Given the description of an element on the screen output the (x, y) to click on. 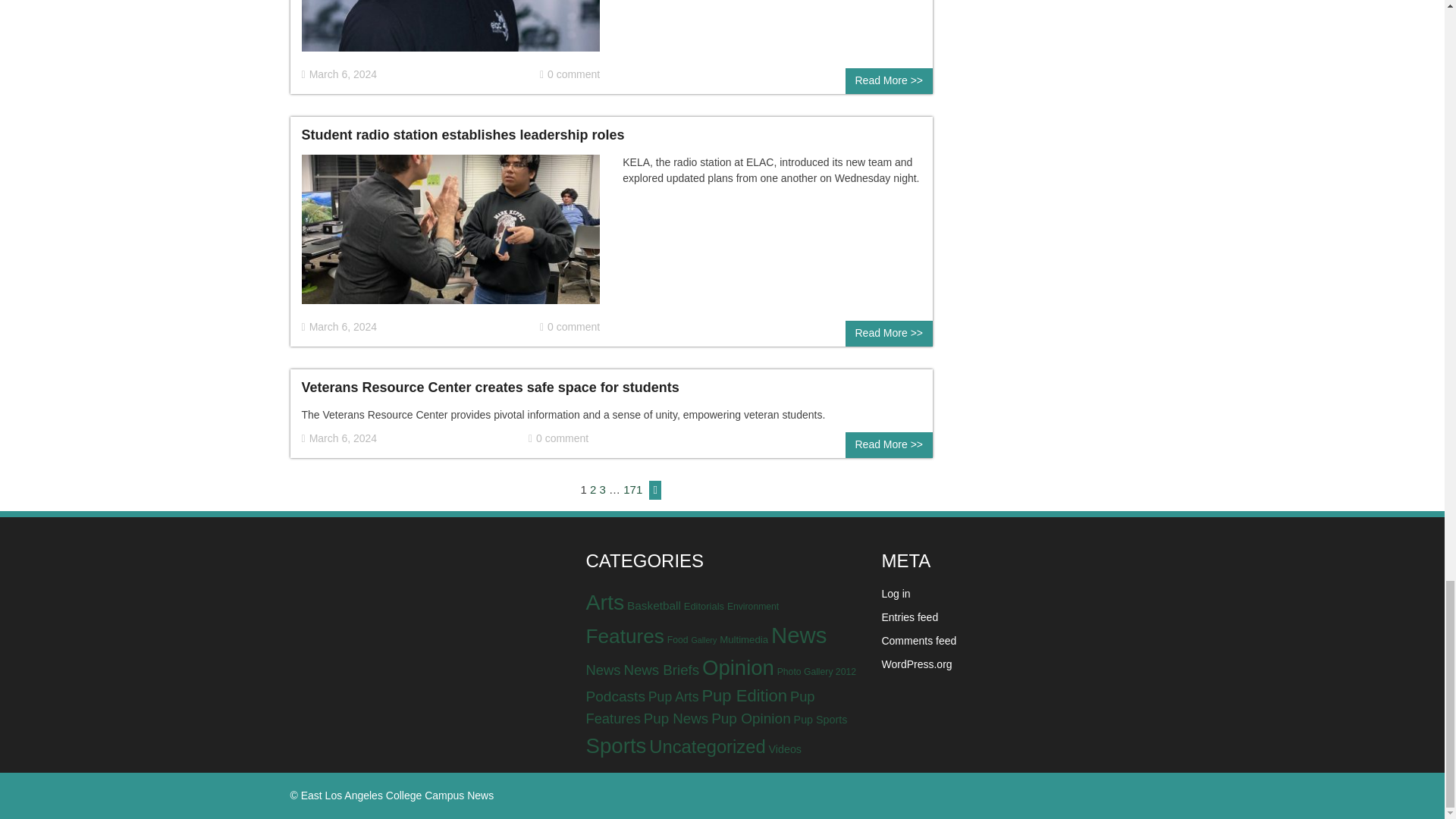
Student radio station establishes leadership roles (450, 235)
